Given the description of an element on the screen output the (x, y) to click on. 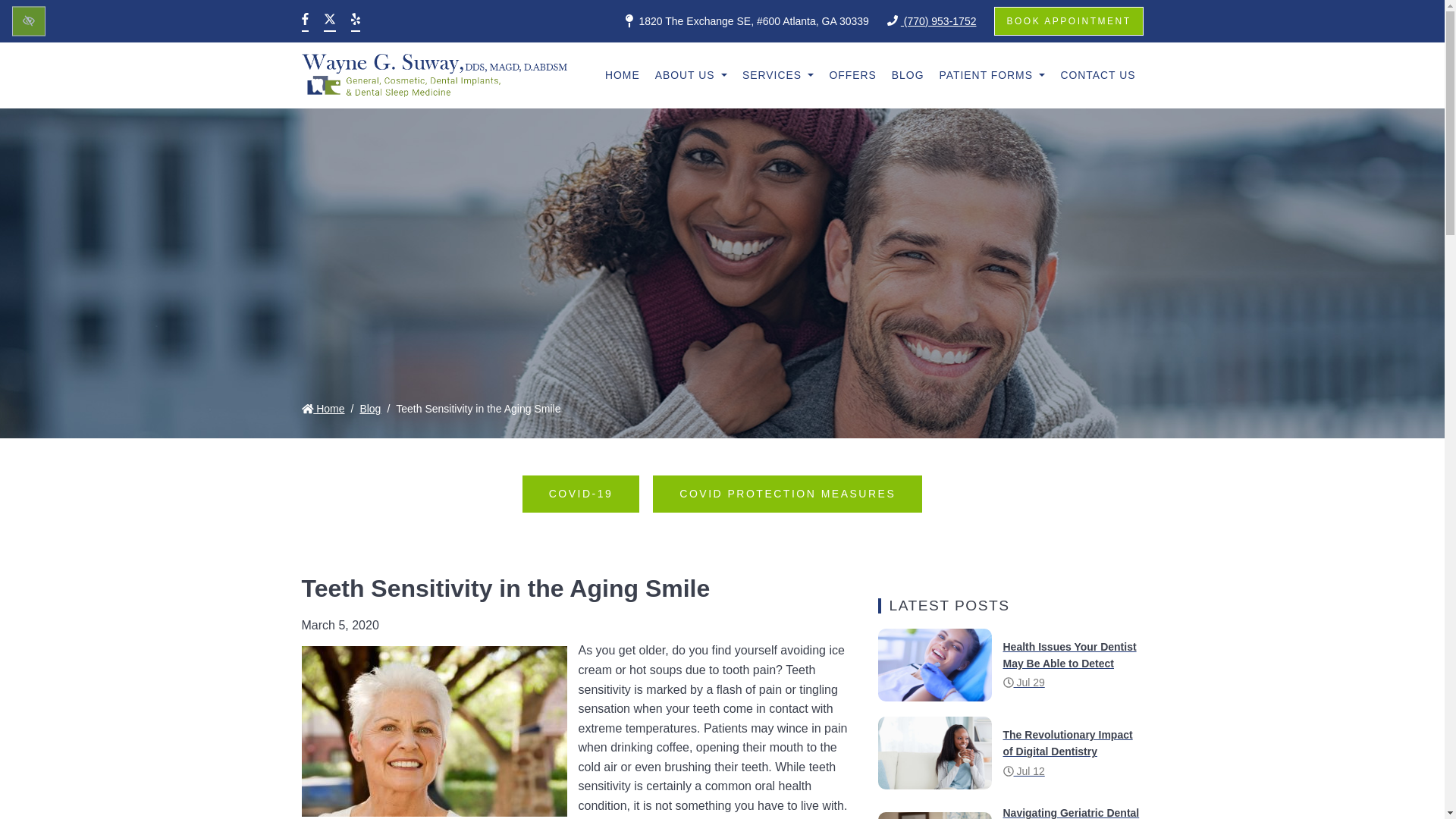
SKIP TO MAIN CONTENT (26, 11)
BOOK APPOINTMENT (1068, 21)
HOME (621, 75)
SERVICES (778, 75)
ABOUT US (691, 75)
